Given the description of an element on the screen output the (x, y) to click on. 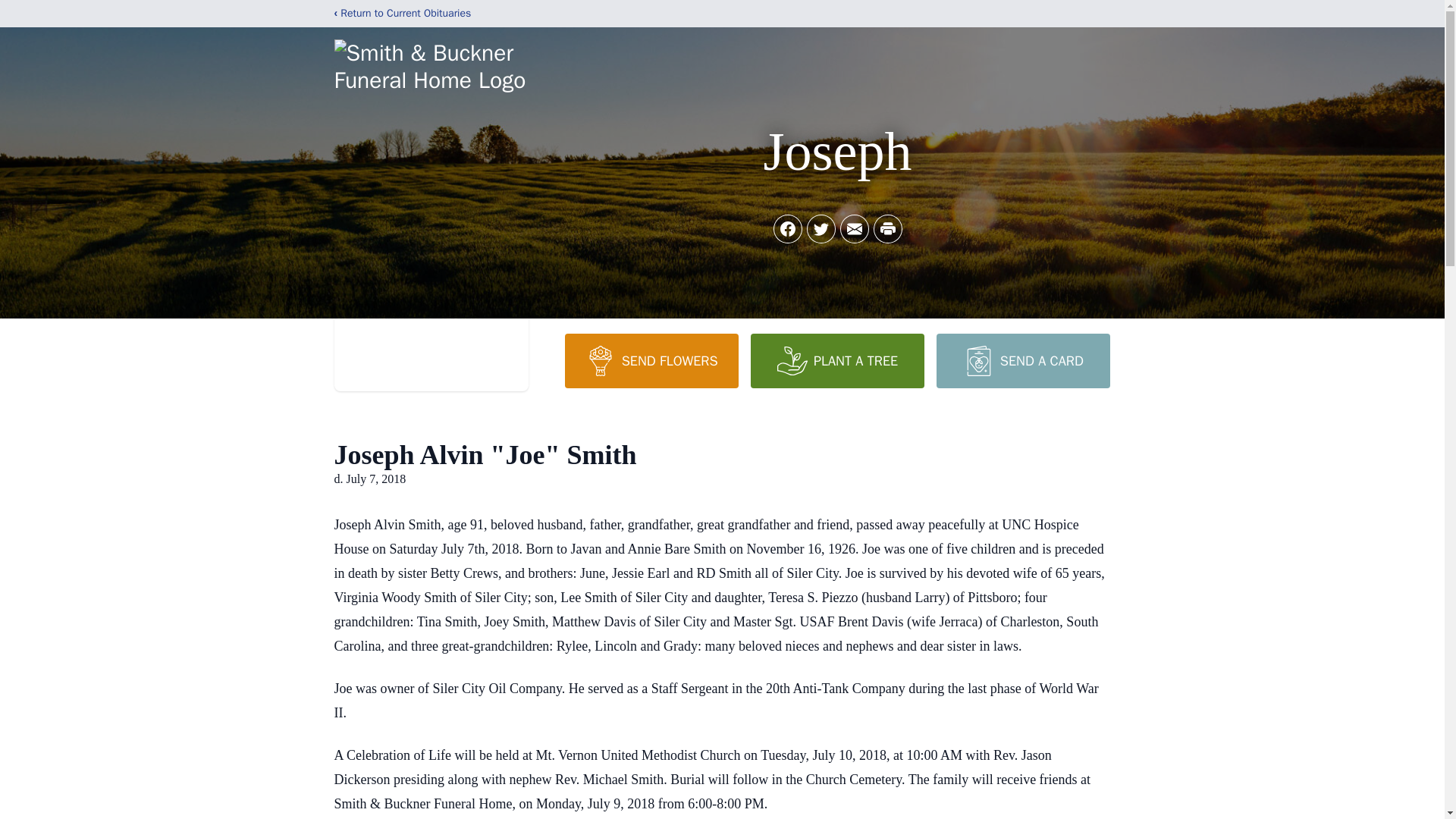
SEND A CARD (1022, 360)
SEND FLOWERS (651, 360)
PLANT A TREE (837, 360)
